Given the description of an element on the screen output the (x, y) to click on. 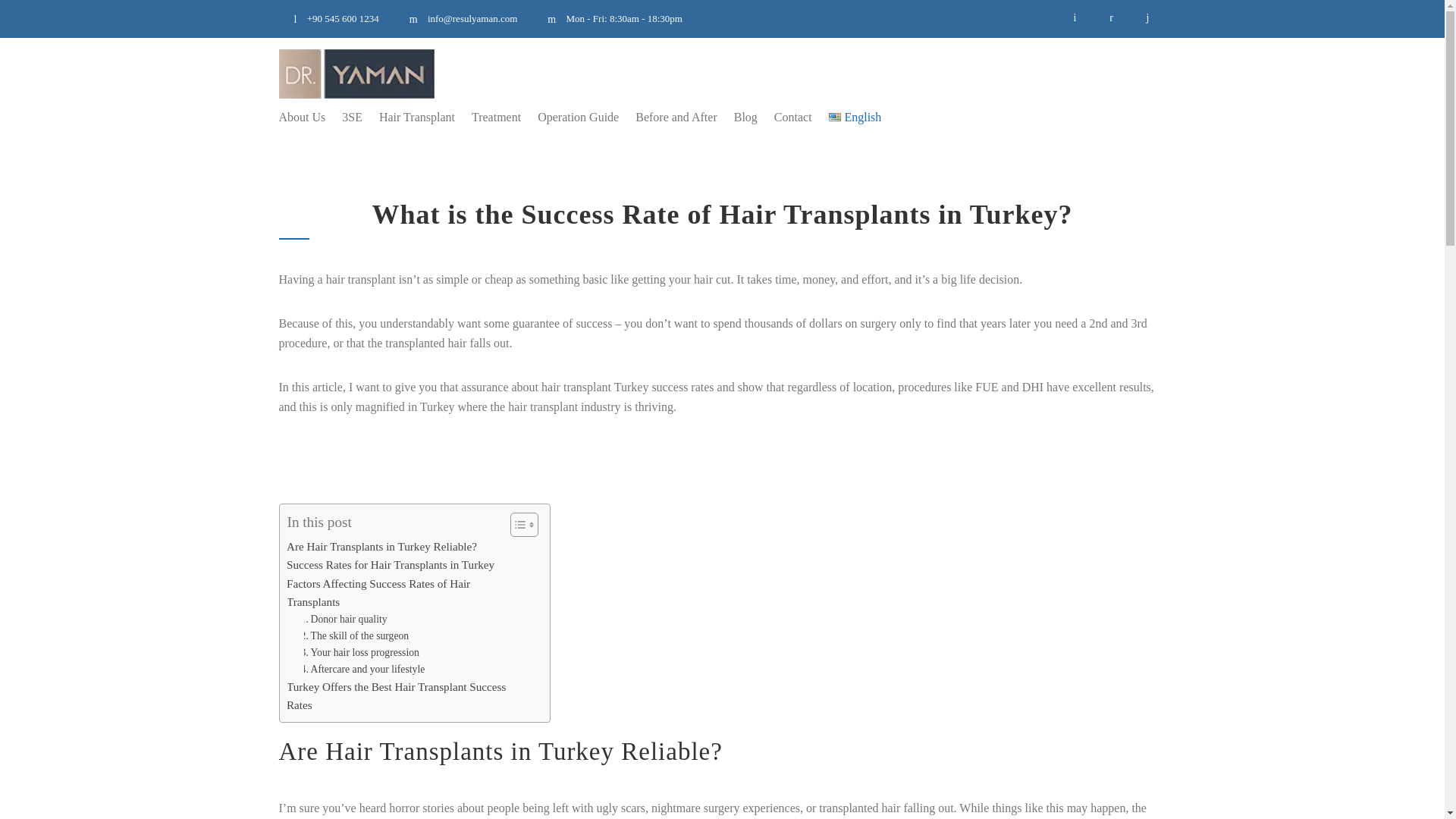
Factors Affecting Success Rates of Hair Transplants (399, 592)
Are Hair Transplants in Turkey Reliable? (376, 546)
Turkey Offers the Best Hair Transplant Success Rates (399, 696)
Dr Resul Yaman Hair Clinic (356, 73)
Treatment (487, 117)
Your hair loss progression (355, 652)
Hair Transplant (408, 117)
Aftercare and your lifestyle (358, 669)
Blog (737, 117)
About Us (302, 117)
Operation Guide (569, 117)
Before and After (667, 117)
The skill of the surgeon (350, 636)
Success Rates for Hair Transplants in Turkey (385, 565)
3SE (343, 117)
